Given the description of an element on the screen output the (x, y) to click on. 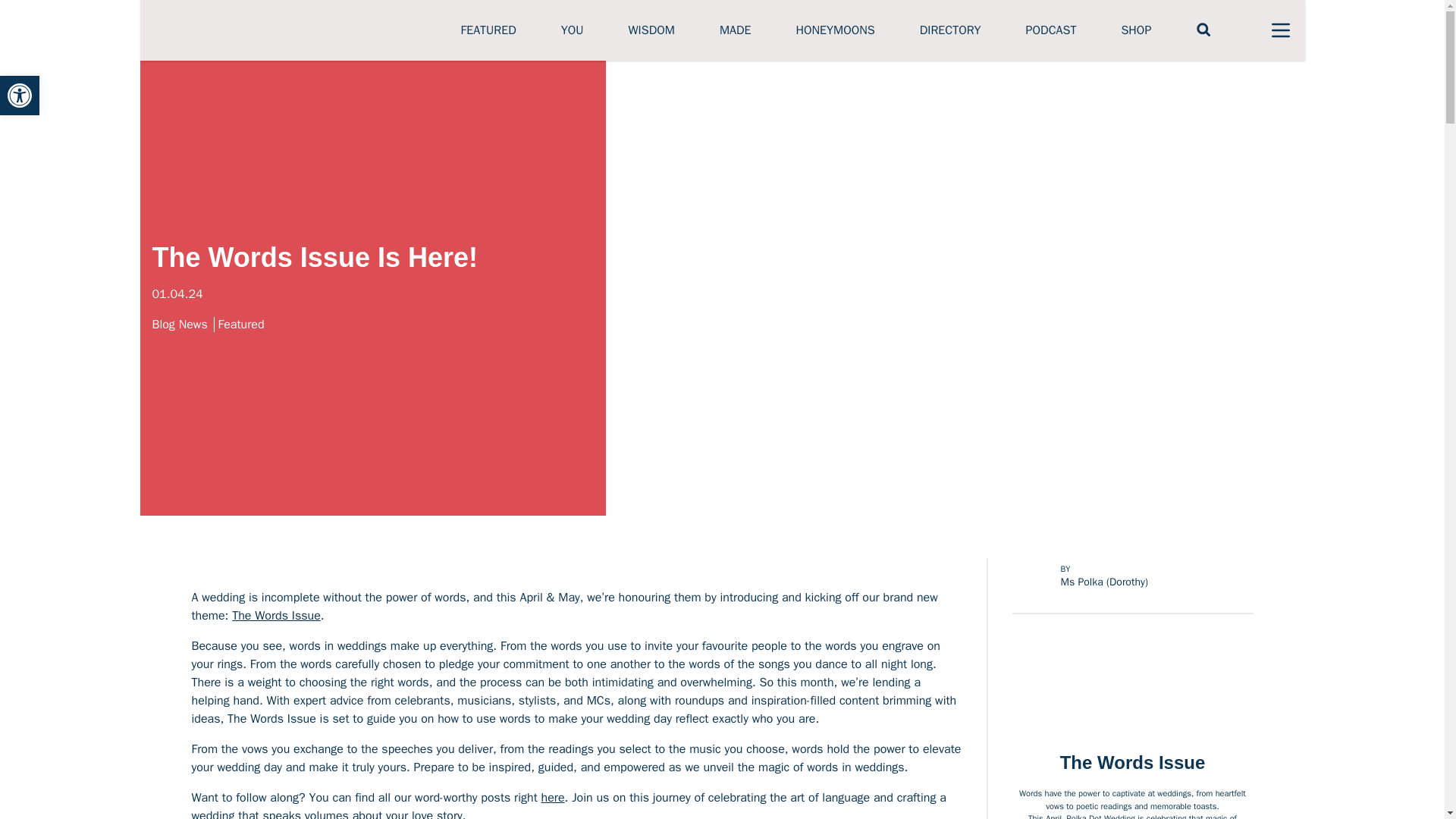
HONEYMOONS (834, 29)
MADE (735, 29)
SHOP (1136, 29)
FEATURED (488, 29)
WISDOM (650, 29)
Featured (241, 324)
Blog News (182, 324)
YOU (571, 29)
